Given the description of an element on the screen output the (x, y) to click on. 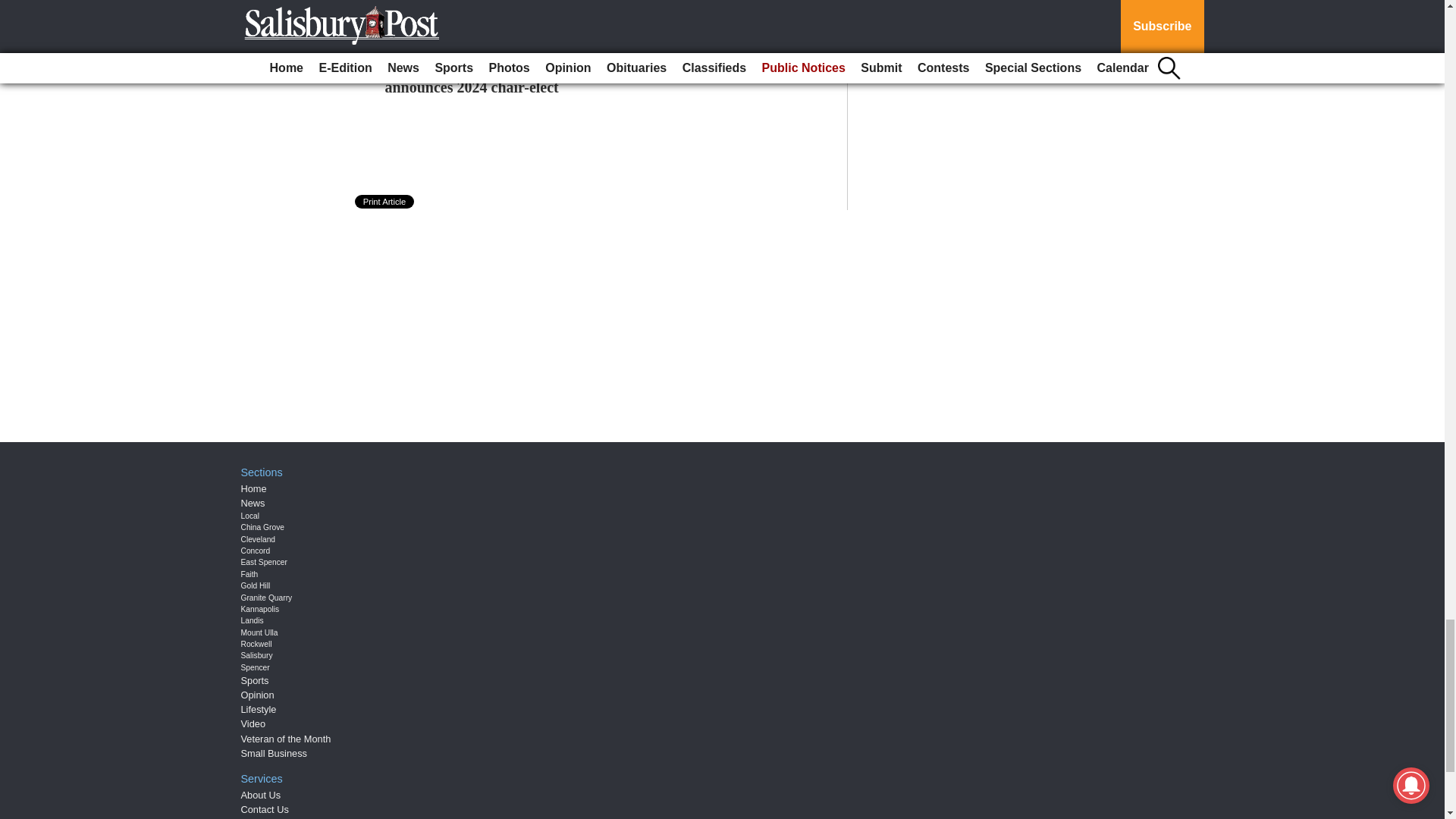
Rowan Chamber of Commerce announces 2024 chair-elect (485, 77)
